Given the description of an element on the screen output the (x, y) to click on. 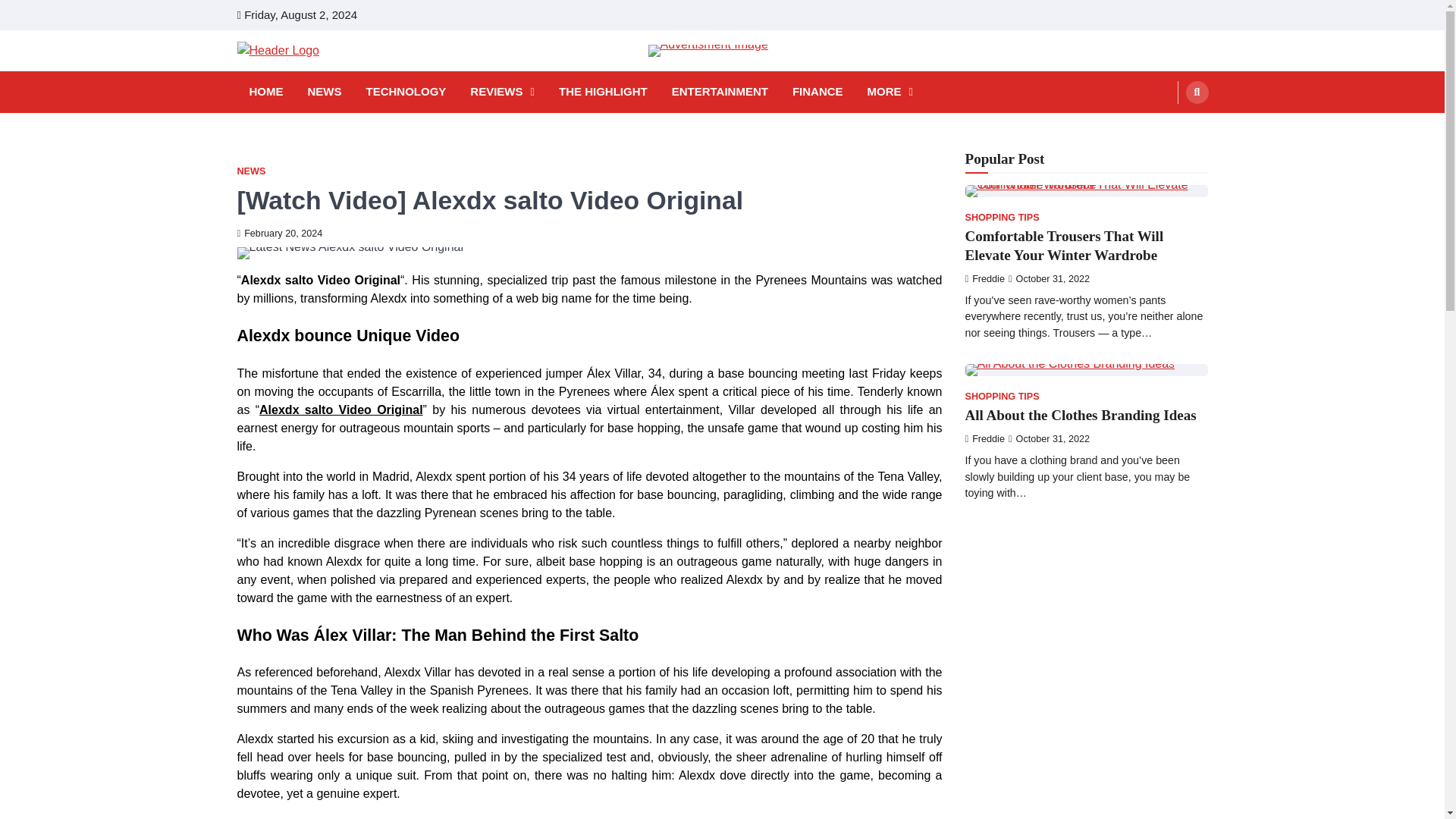
NEWS (324, 91)
REVIEWS (502, 91)
NEWS (249, 171)
SHOPPING TIPS (1001, 217)
TECHNOLOGY (405, 91)
MORE (889, 91)
Search (1197, 91)
HOME (265, 91)
FINANCE (817, 91)
February 20, 2024 (278, 233)
Search (1168, 126)
THE HIGHLIGHT (603, 91)
ENTERTAINMENT (719, 91)
